Given the description of an element on the screen output the (x, y) to click on. 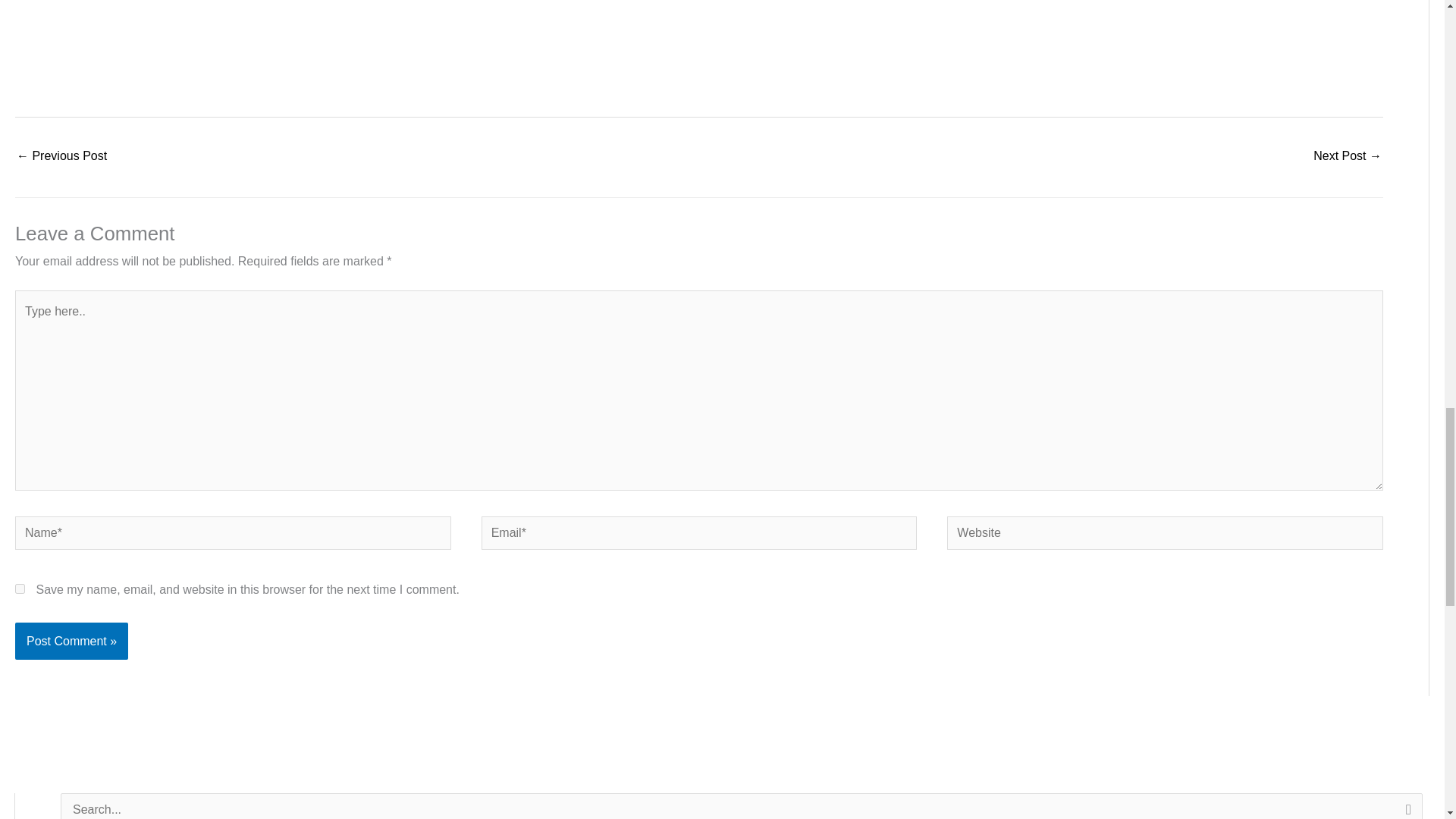
Search (1405, 806)
Series: Cleaning Out the Toxins - Part 1 (1347, 157)
yes (19, 588)
Search (1405, 806)
Search (1405, 806)
